Given the description of an element on the screen output the (x, y) to click on. 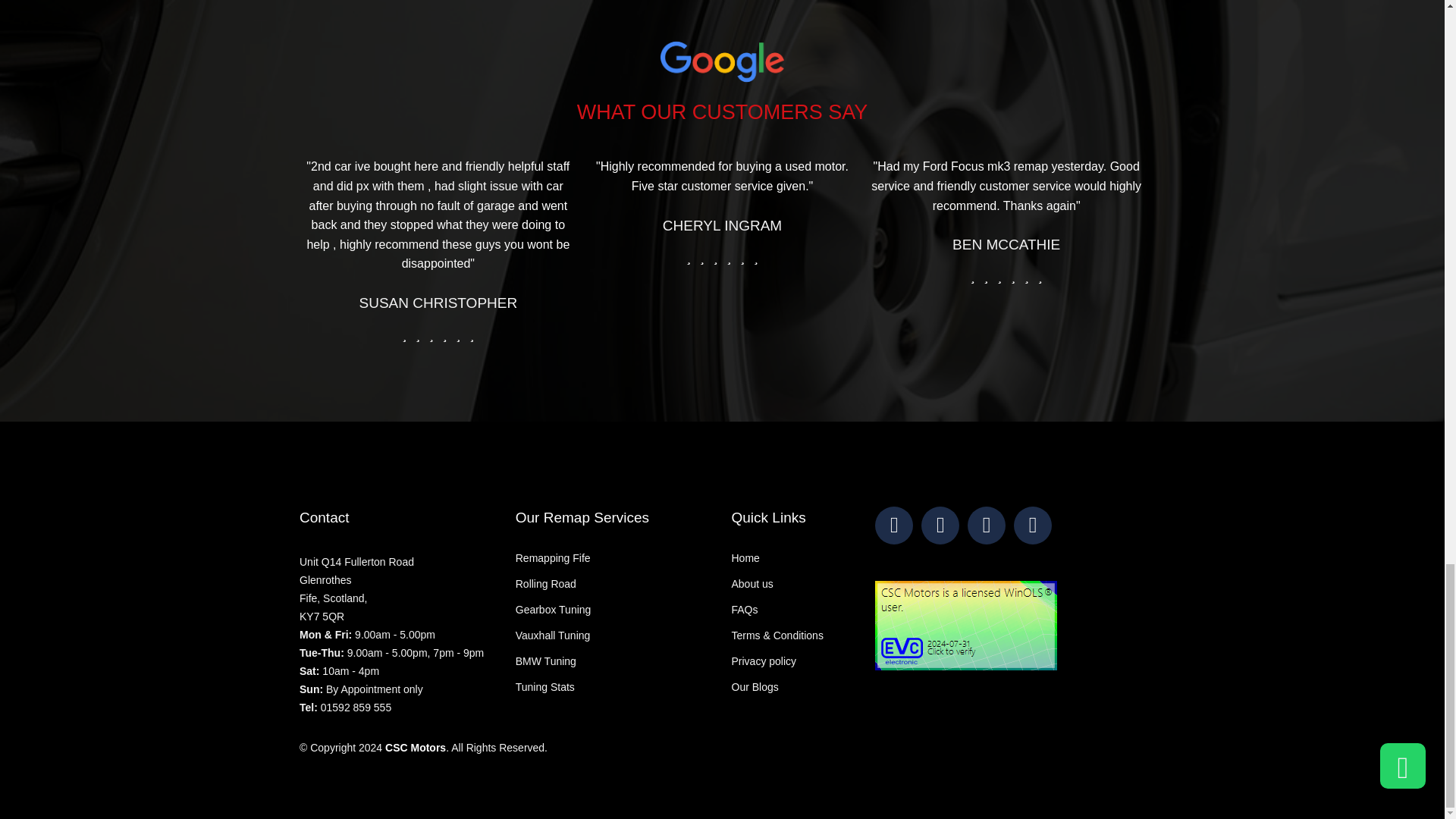
SUSAN CHRISTOPHER (438, 302)
01592 859 555 (356, 589)
Remapping Fife (355, 707)
CHERYL INGRAM (553, 557)
BEN MCCATHIE (721, 225)
